Given the description of an element on the screen output the (x, y) to click on. 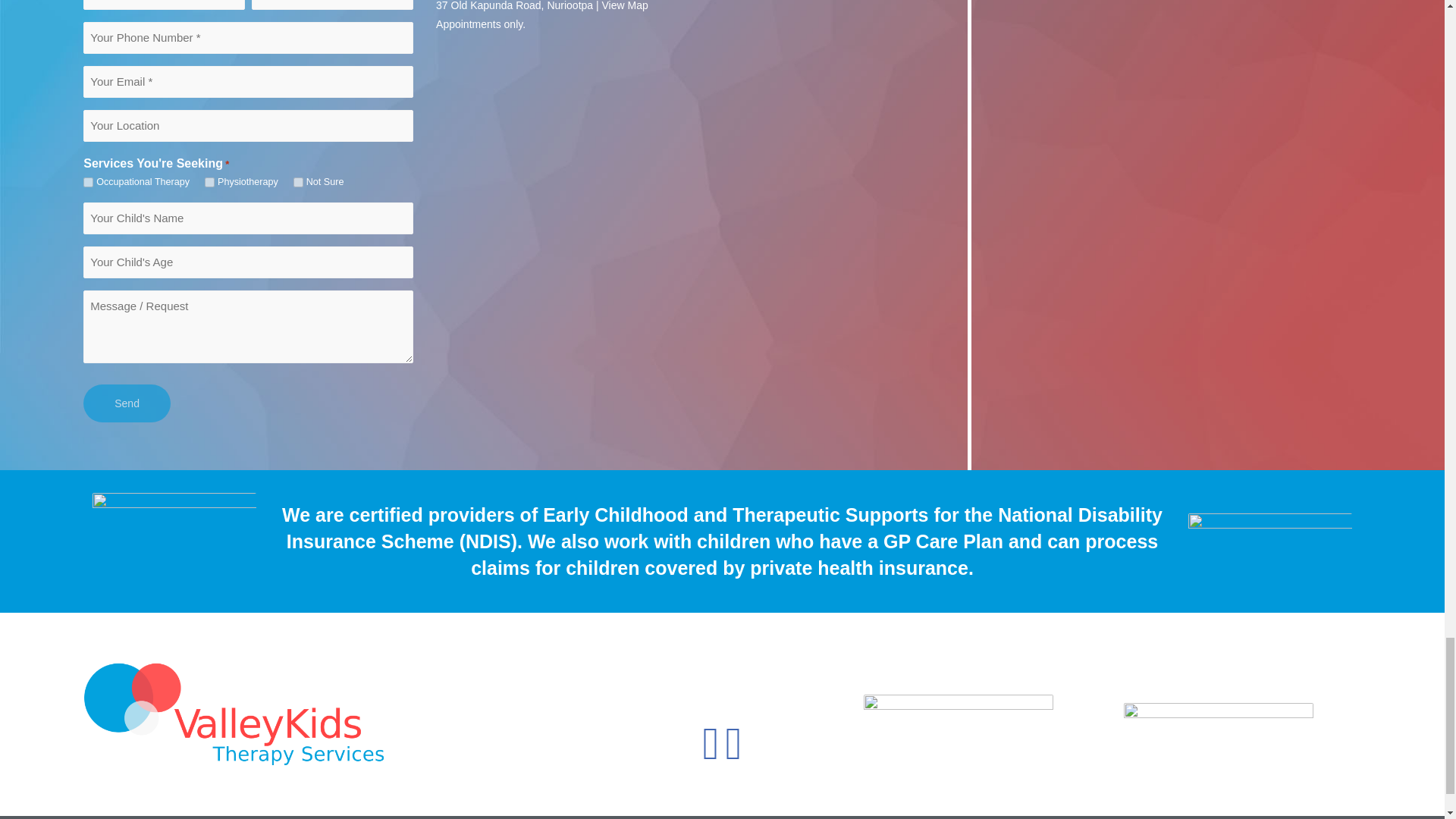
Physiotherapy (209, 182)
Occupational Therapy (87, 182)
Not Sure (298, 182)
Send (126, 403)
